Given the description of an element on the screen output the (x, y) to click on. 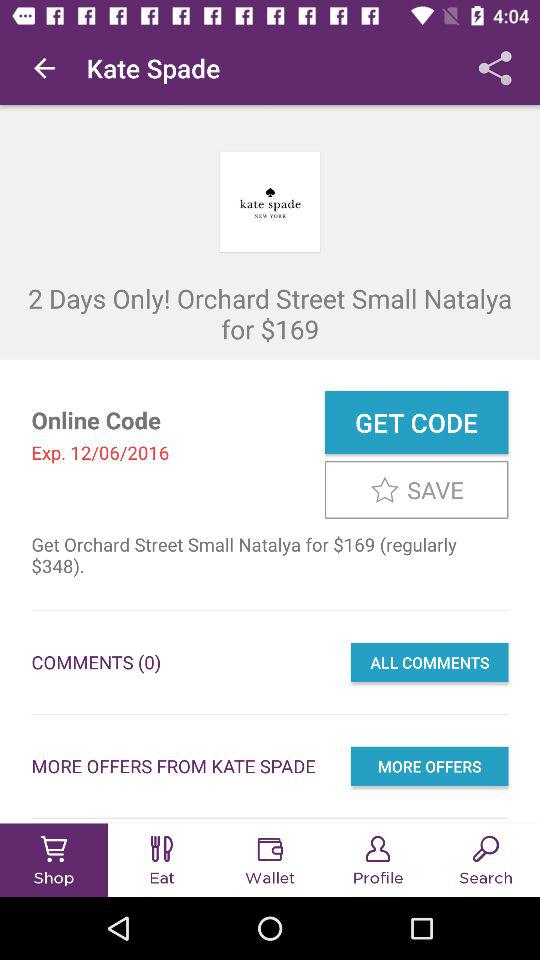
click get code (417, 422)
go to the search (486, 859)
click save button (417, 489)
click all comments (430, 662)
click the wallet icon (270, 848)
click the back button (44, 67)
click the get code button (417, 422)
click the kate spade logo (269, 201)
